Given the description of an element on the screen output the (x, y) to click on. 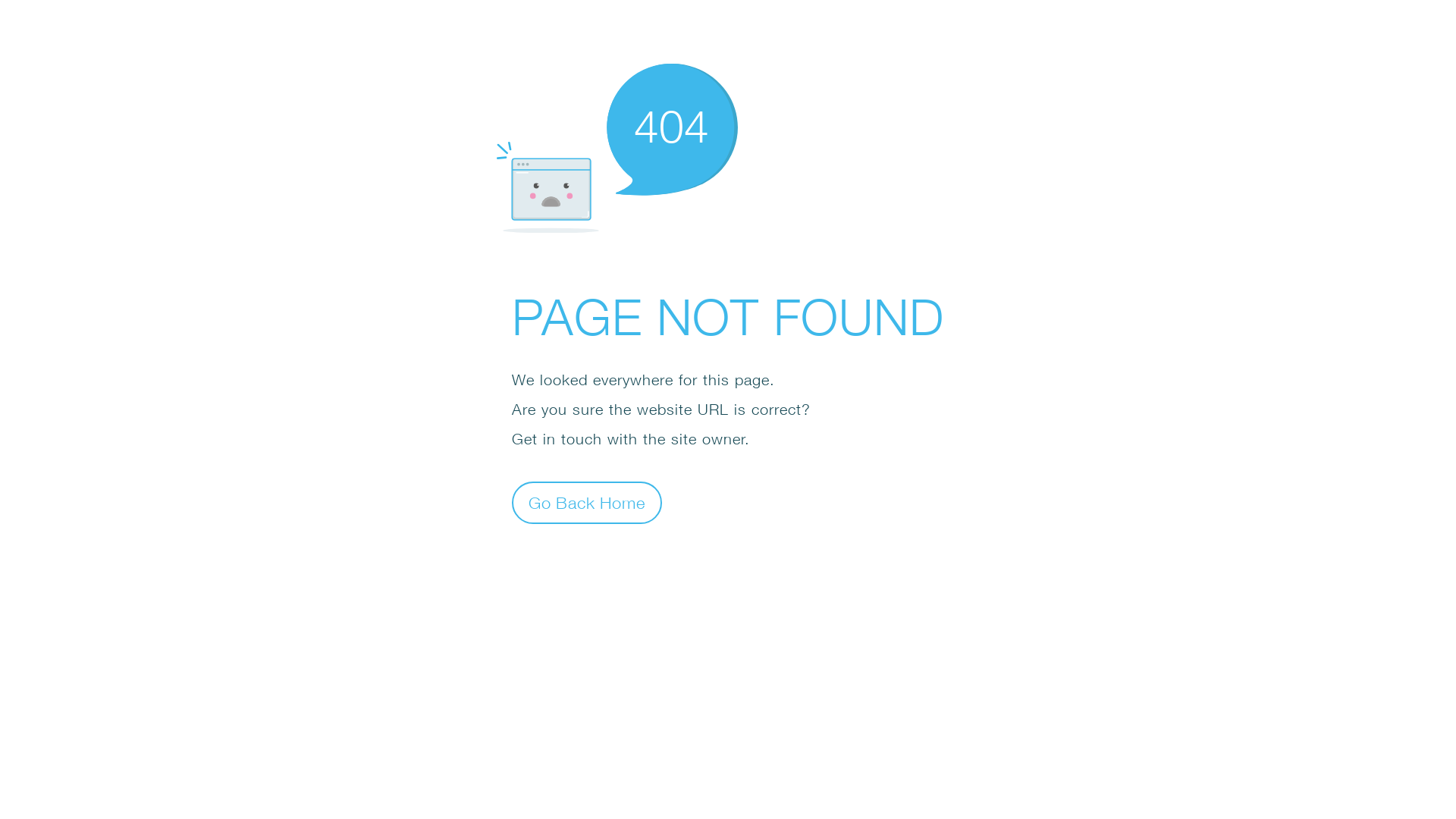
Go Back Home Element type: text (586, 502)
